Given the description of an element on the screen output the (x, y) to click on. 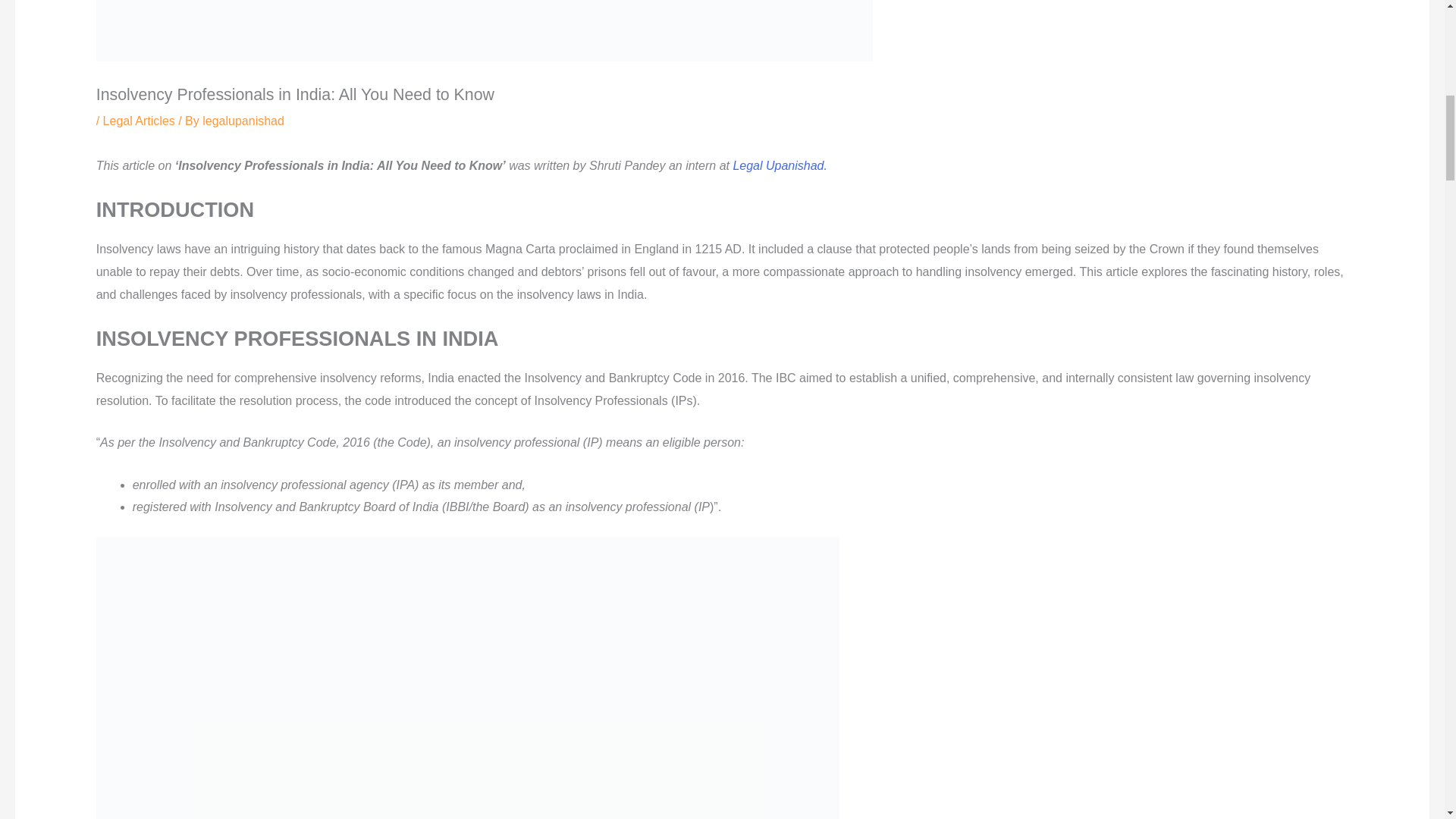
legalupanishad (242, 120)
Legal Upanishad. (779, 164)
View all posts by legalupanishad (242, 120)
Legal Articles (138, 120)
Insolvency Professionals in India: All You Need to Know 2 (484, 30)
